Given the description of an element on the screen output the (x, y) to click on. 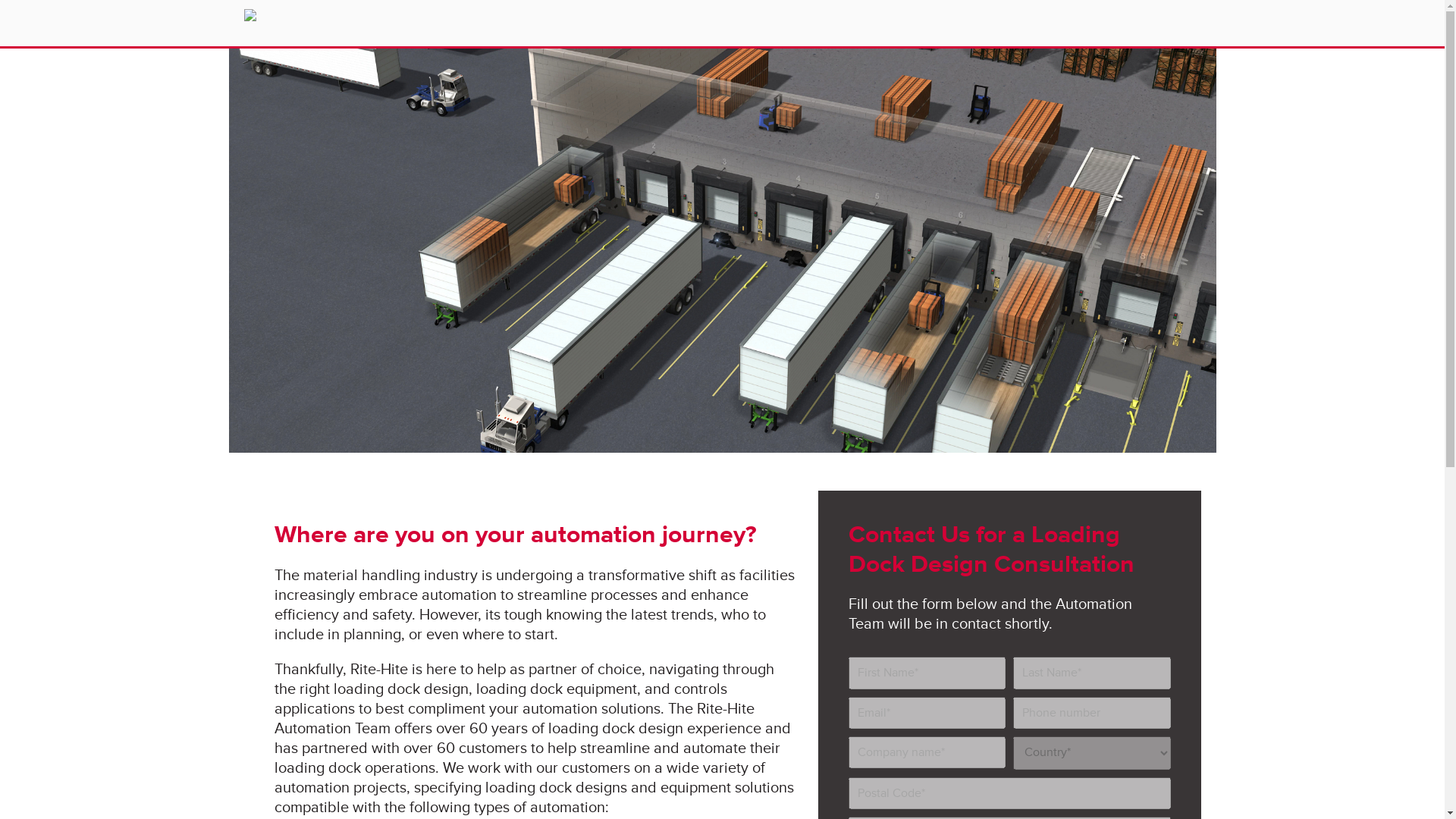
ARBON EQUIPMENT (1107, 724)
CA SUPPLY CHAIN TRANSPARENCY (739, 724)
COMPLIANCE STANDARDS (946, 724)
TERMS OF USE (565, 724)
PRIVACY POLICY (325, 724)
COOKIE POLICY (447, 724)
